Given the description of an element on the screen output the (x, y) to click on. 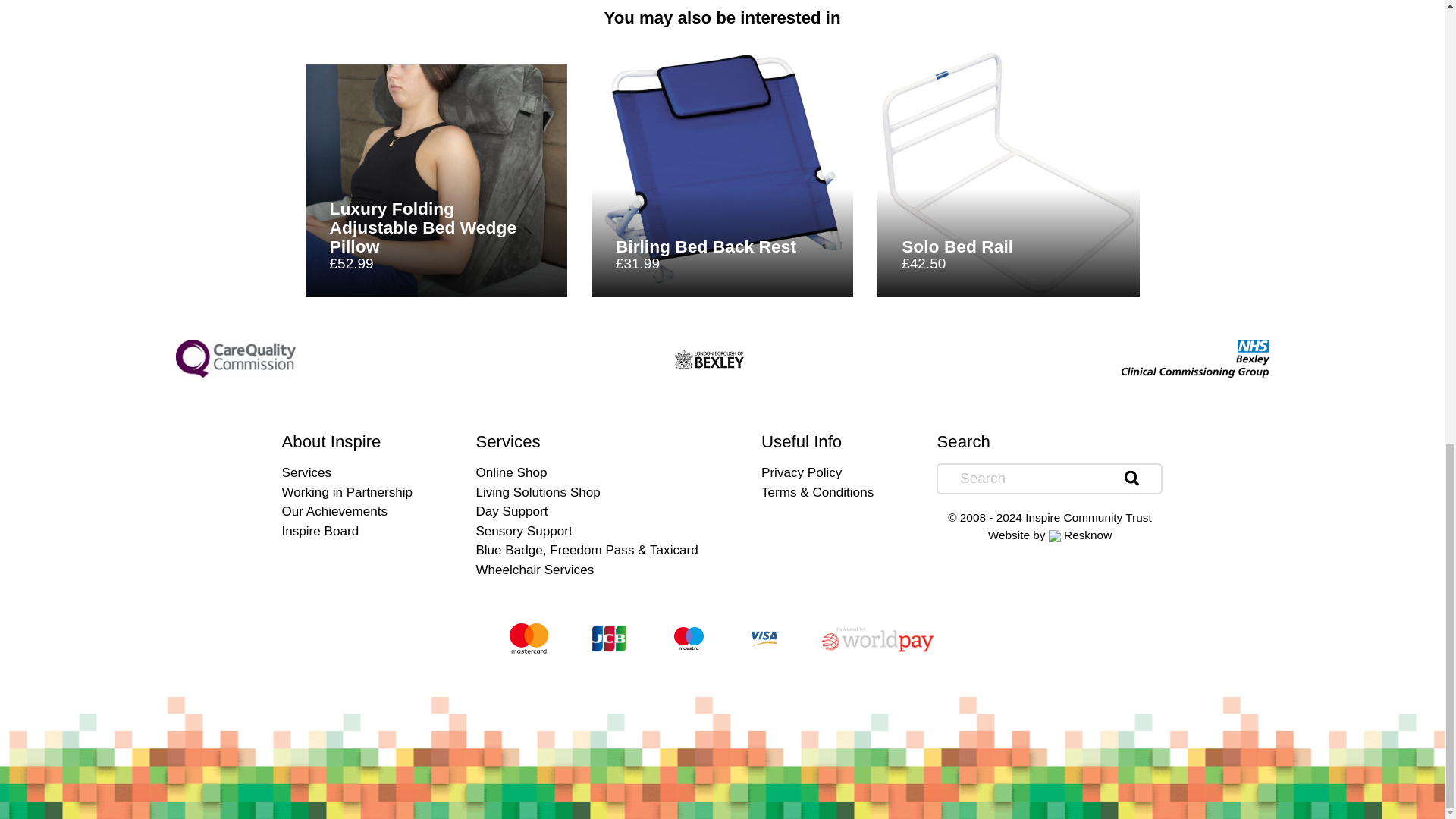
search (1132, 478)
Working in Partnership (347, 492)
Services (347, 473)
